Given the description of an element on the screen output the (x, y) to click on. 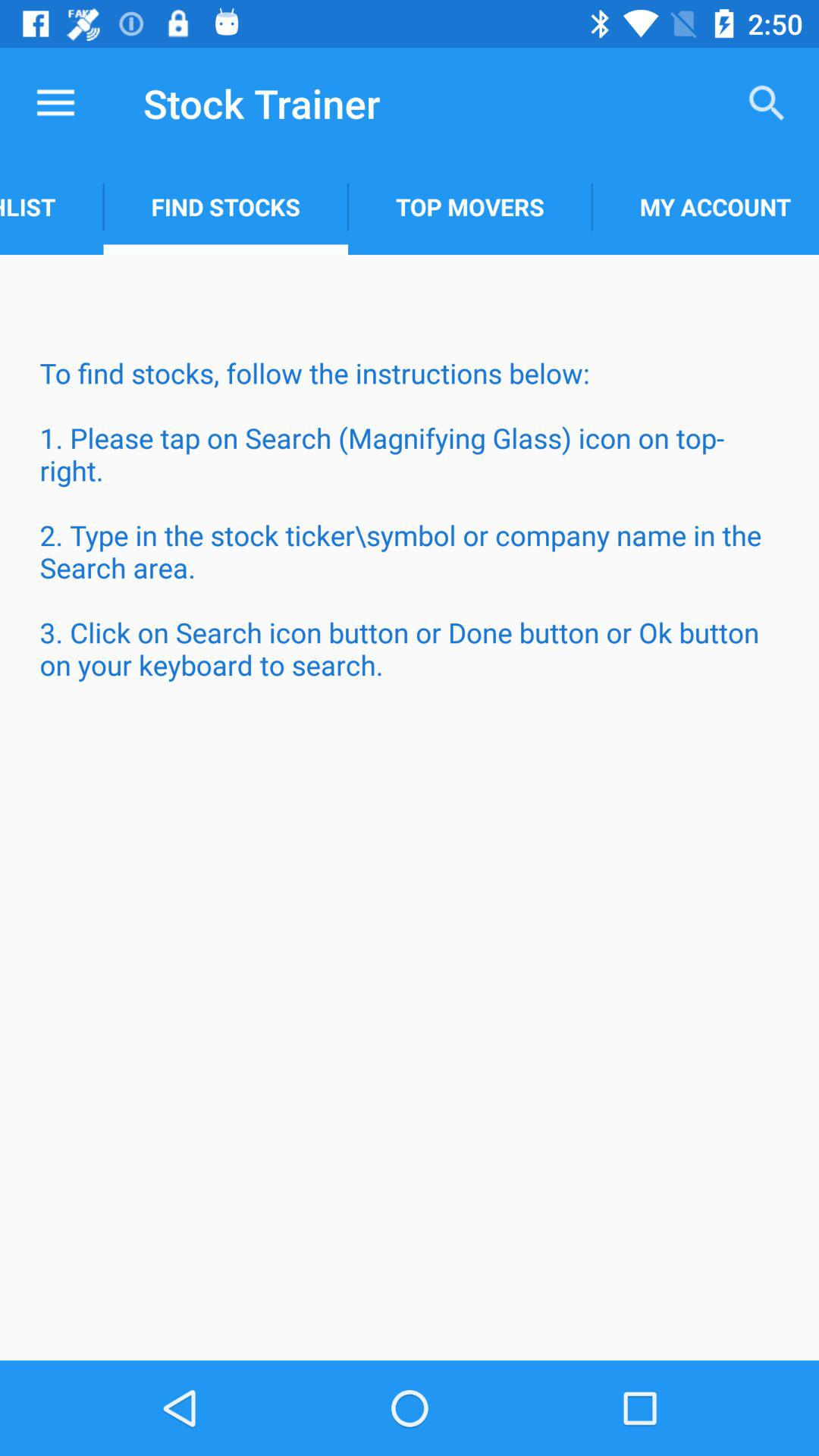
turn on the app next to the find stocks app (470, 206)
